Given the description of an element on the screen output the (x, y) to click on. 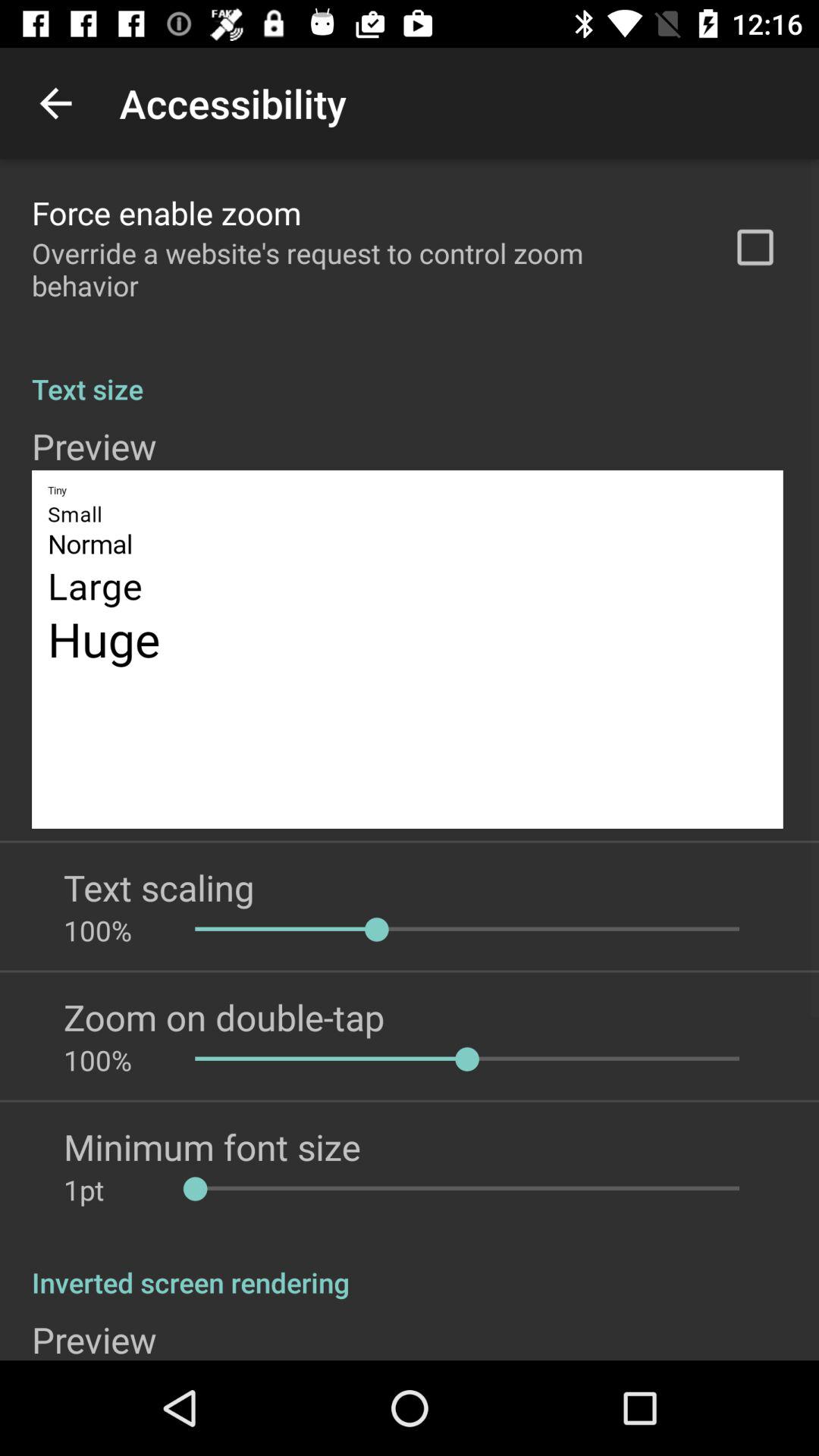
launch item above the 100% icon (158, 887)
